Given the description of an element on the screen output the (x, y) to click on. 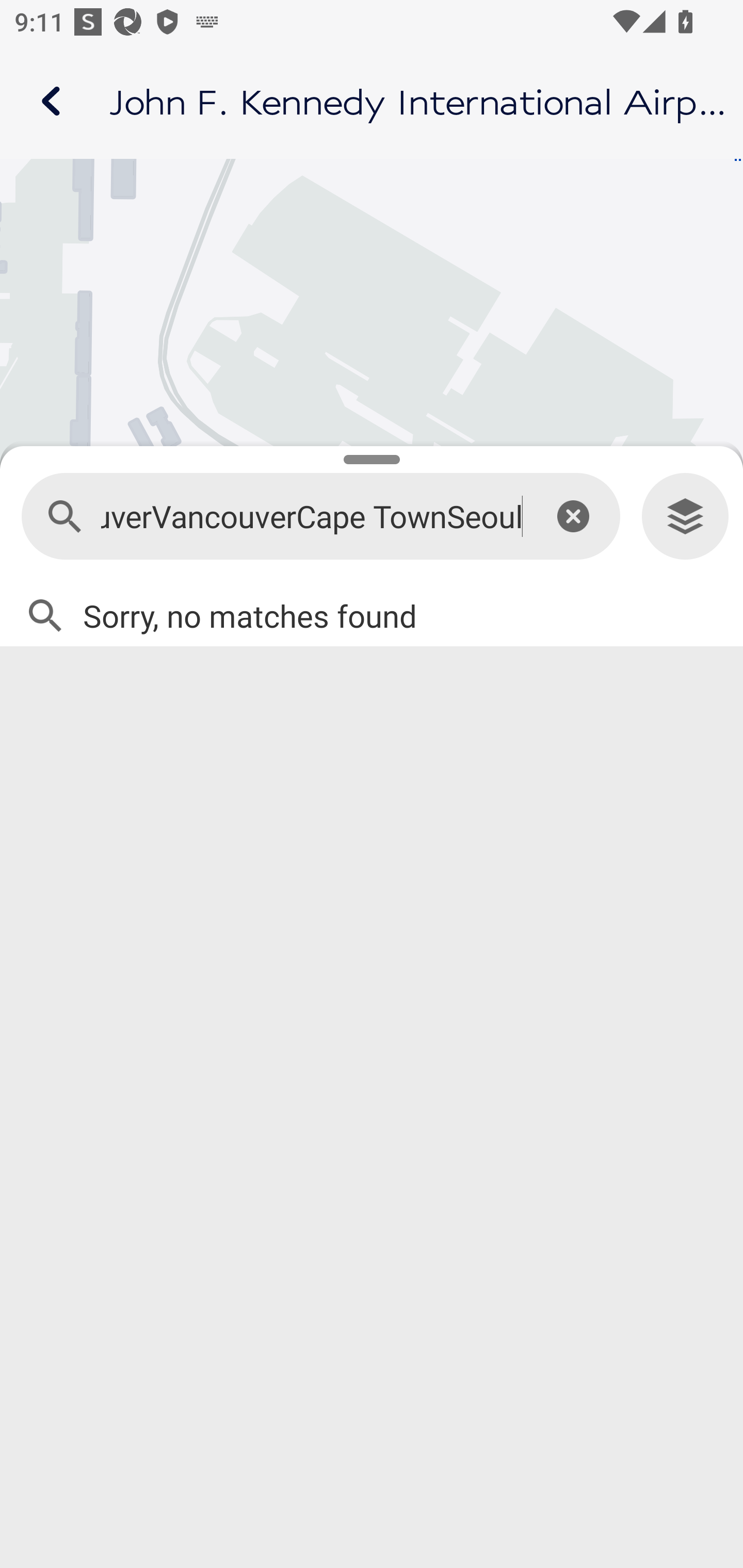
Airport map (371, 100)
MadridVancouverVancouverCape TownSeoul (311, 516)
Levels (684, 516)
This is an icon for clearing the text field. (573, 515)
